Given the description of an element on the screen output the (x, y) to click on. 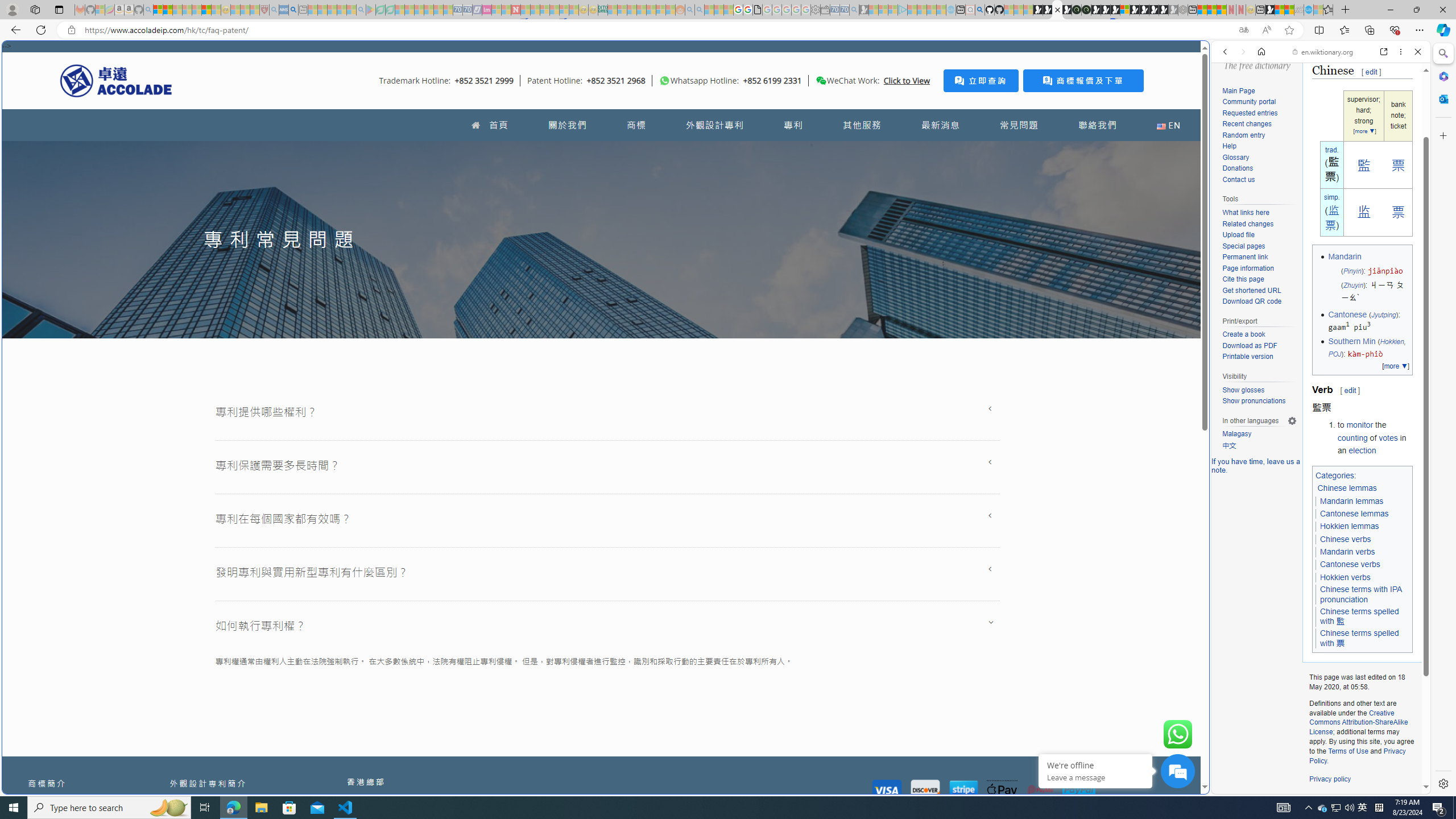
Hokkien lemmas (1349, 526)
Cantonese verbs (1350, 564)
Chinese lemmas (1348, 488)
Class: desktop (821, 80)
Play Cave FRVR in your browser | Games from Microsoft Start (922, 242)
